Given the description of an element on the screen output the (x, y) to click on. 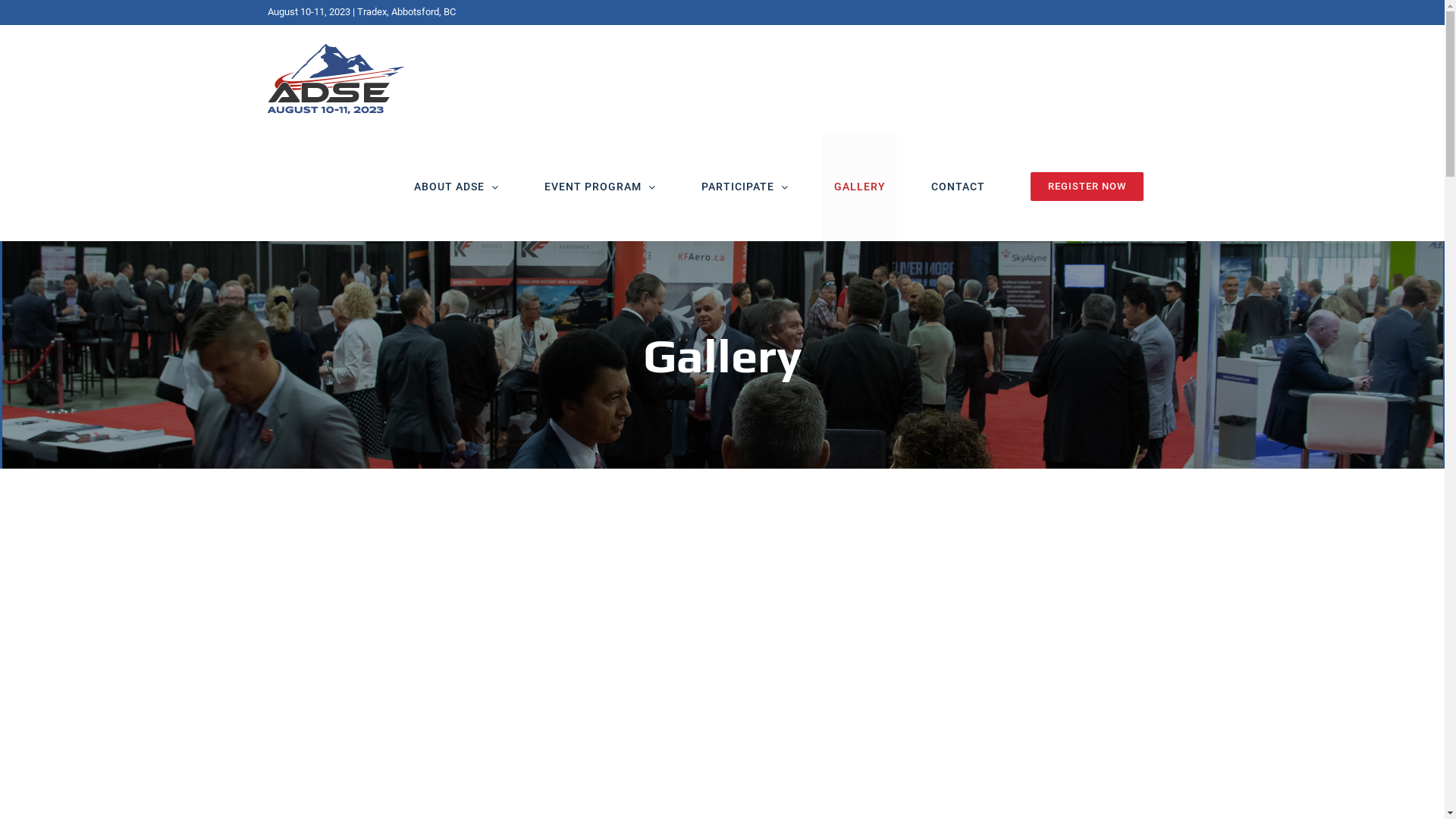
EVENT PROGRAM Element type: text (599, 186)
REGISTER NOW Element type: text (1086, 186)
GALLERY Element type: text (859, 186)
ABOUT ADSE Element type: text (455, 186)
CONTACT Element type: text (957, 186)
PARTICIPATE Element type: text (745, 186)
